Given the description of an element on the screen output the (x, y) to click on. 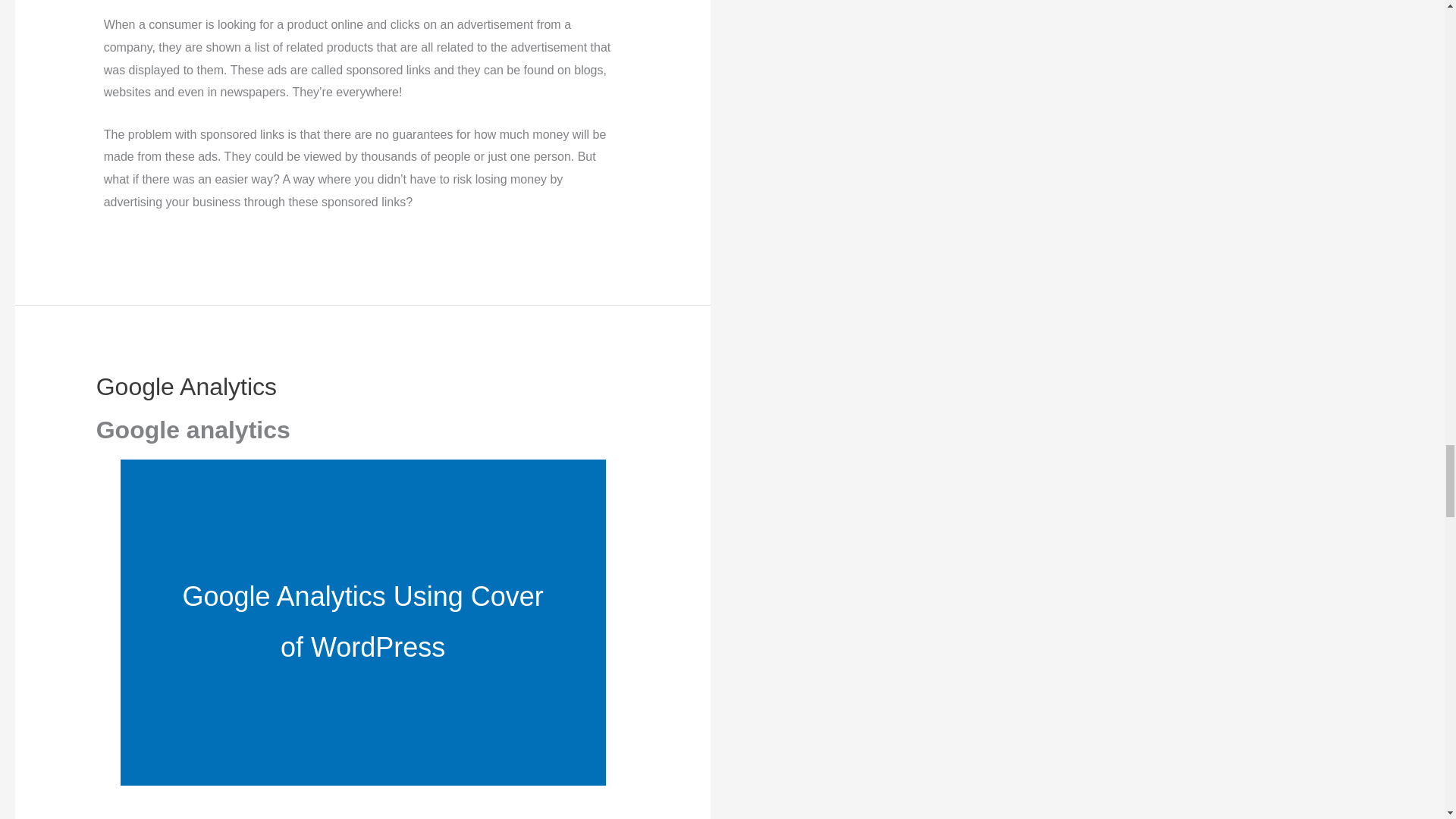
Google Analytics (186, 386)
